Given the description of an element on the screen output the (x, y) to click on. 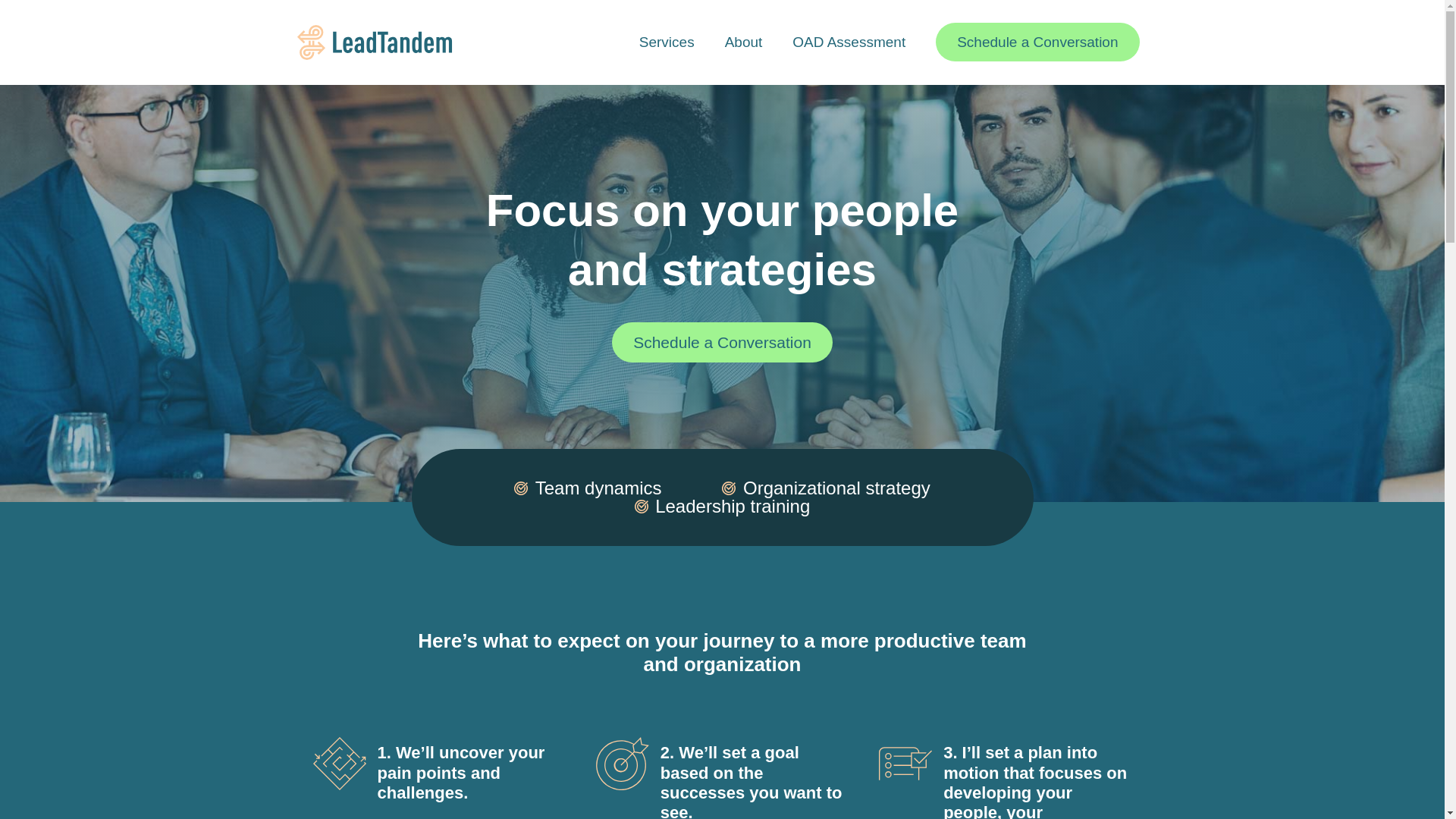
Services (667, 42)
Schedule a Conversation (1037, 41)
people, (974, 811)
Schedule a Conversation (721, 342)
About (743, 42)
OAD Assessment (848, 42)
